Given the description of an element on the screen output the (x, y) to click on. 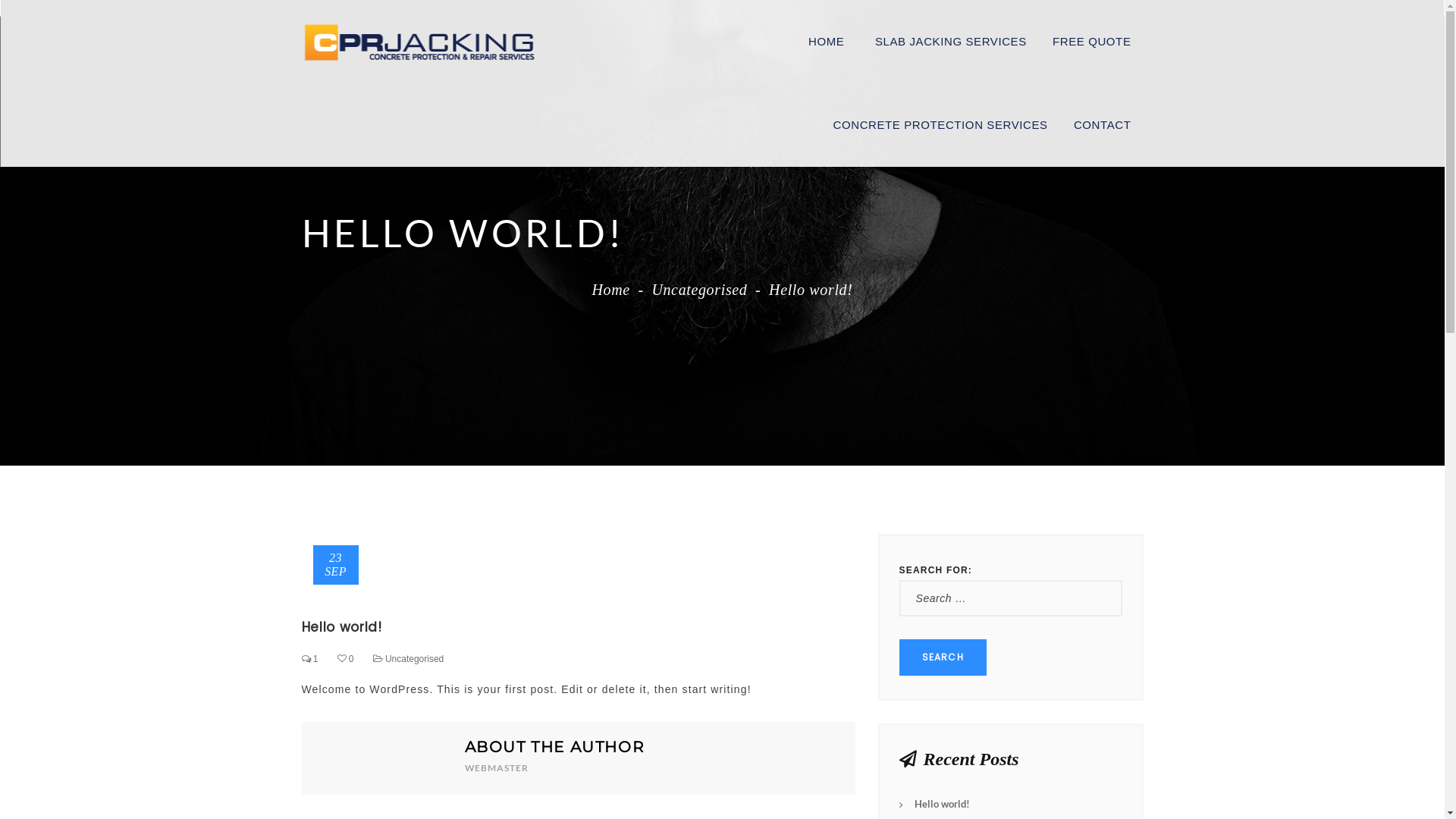
Home Element type: text (610, 289)
CONTACT Element type: text (1102, 124)
SIGN IN Element type: text (713, 225)
HOME Element type: text (826, 41)
CONCRETE PROTECTION SERVICES Element type: text (940, 124)
SLAB JACKING SERVICES Element type: text (950, 41)
Uncategorised Element type: text (698, 289)
FREE QUOTE Element type: text (1091, 41)
0 Element type: text (345, 658)
Uncategorised Element type: text (414, 658)
Search Element type: text (942, 657)
1 Element type: text (309, 658)
